Given the description of an element on the screen output the (x, y) to click on. 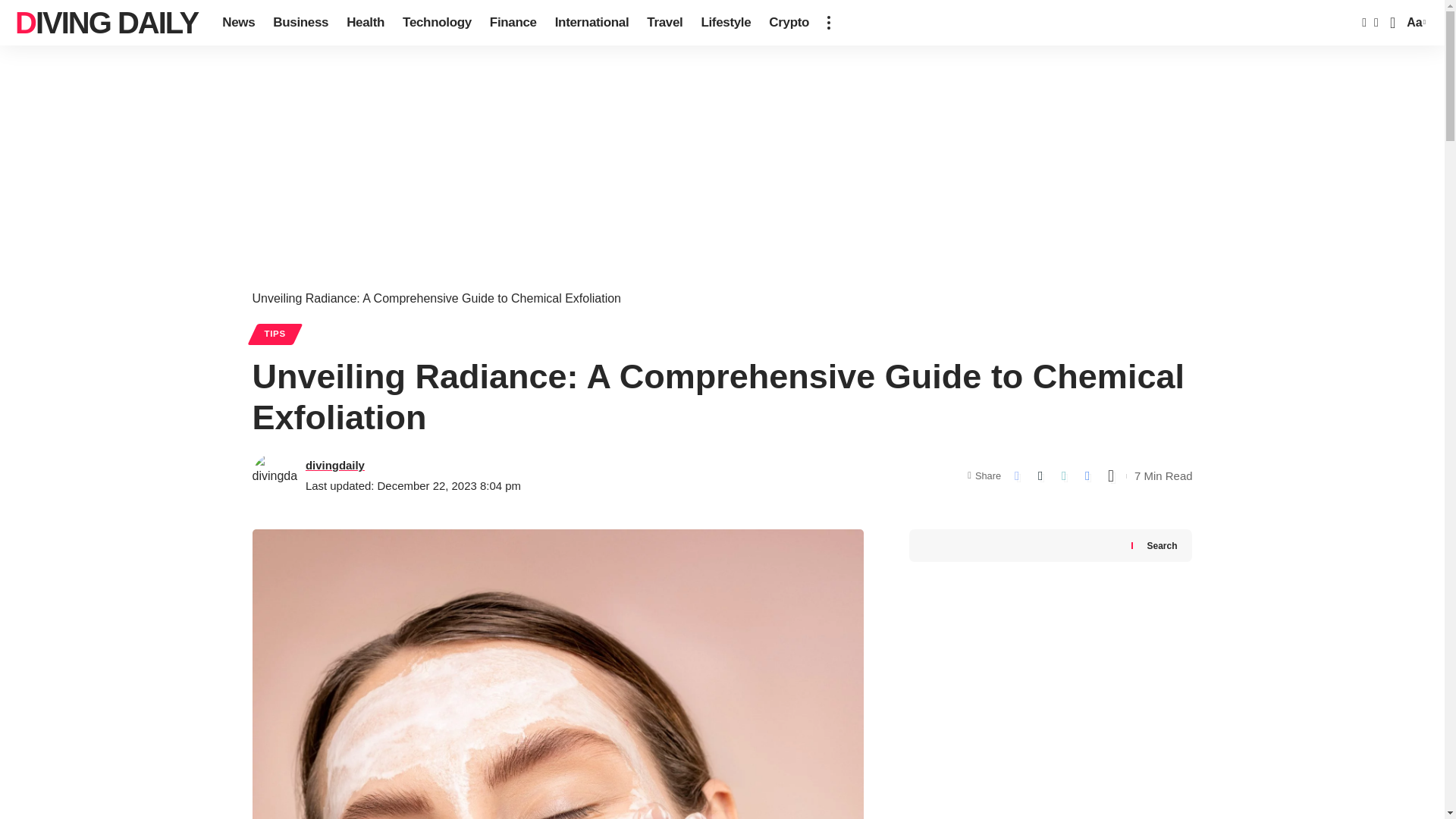
divingdaily (335, 465)
International (592, 22)
Technology (436, 22)
Finance (513, 22)
News (237, 22)
DIVING DAILY (106, 22)
Diving Daily (106, 22)
Travel (664, 22)
Health (365, 22)
Business (300, 22)
Crypto (789, 22)
TIPS (274, 333)
Lifestyle (725, 22)
